Given the description of an element on the screen output the (x, y) to click on. 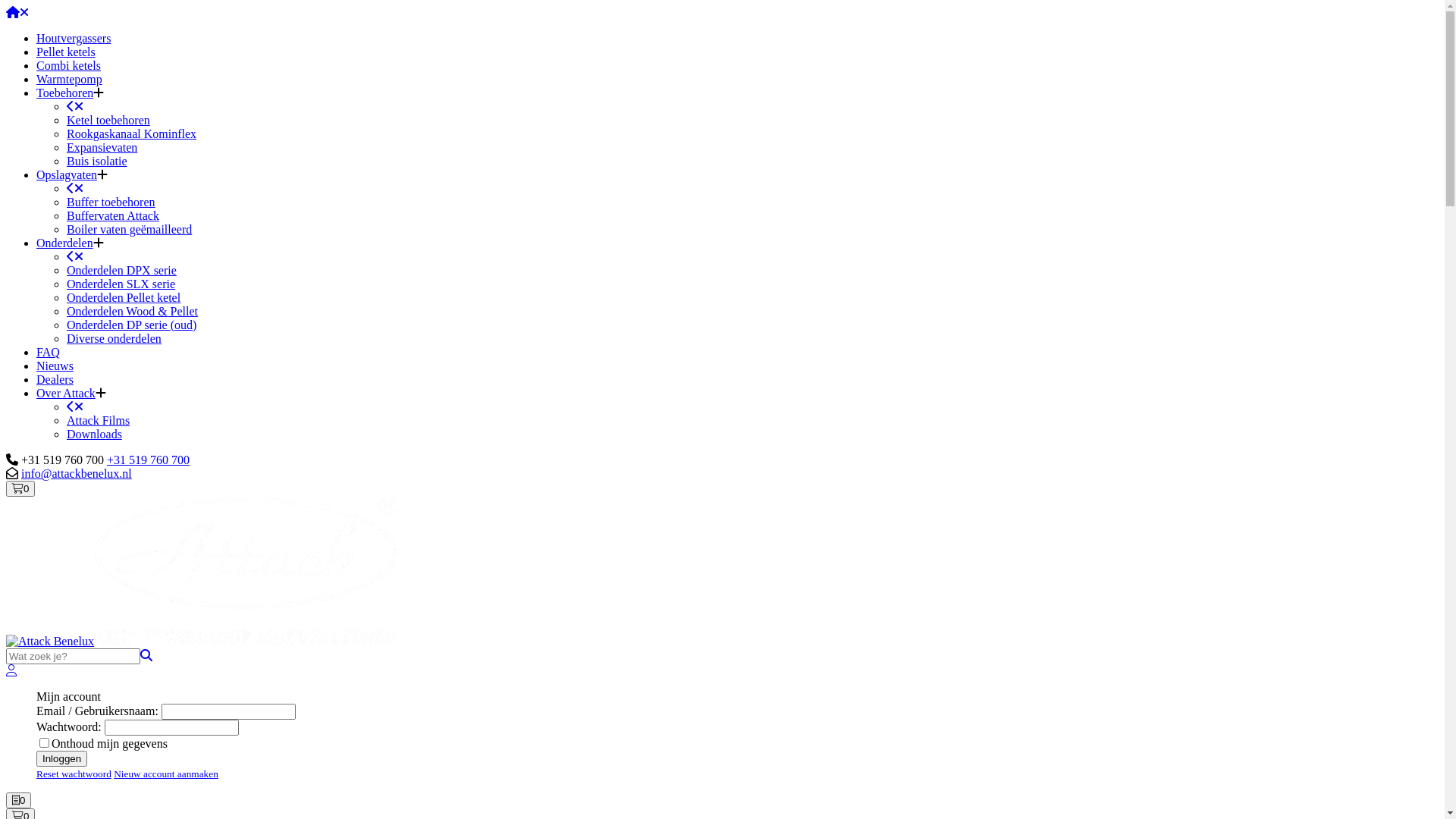
FAQ Element type: text (47, 351)
Winkelwagen Element type: hover (17, 488)
Diverse onderdelen Element type: text (113, 338)
Rookgaskanaal Kominflex Element type: text (131, 133)
Warmtepomp Element type: text (69, 78)
Houtvergassers Element type: text (73, 37)
Attack Films Element type: text (97, 420)
Attack Benelux Element type: hover (201, 640)
Offerte
0 Element type: text (18, 800)
Attack Benelux Element type: hover (245, 570)
Sluiten Element type: hover (78, 188)
Sluiten Element type: hover (70, 106)
Buffervaten Attack Element type: text (112, 215)
Sluiten Element type: hover (70, 406)
Inloggen Element type: text (61, 758)
Winkelwagen
0 Element type: text (20, 488)
Sluiten Element type: hover (70, 256)
Account Element type: hover (11, 670)
Ketel toebehoren Element type: text (108, 119)
Onderdelen DP serie (oud) Element type: text (131, 324)
Combi ketels Element type: text (68, 65)
+31 519 760 700 Element type: text (147, 459)
Wat zoek je? Element type: hover (146, 655)
Nieuw account aanmaken Element type: text (165, 773)
Onderdelen DPX serie Element type: text (121, 269)
Sluiten Element type: hover (78, 256)
Sluiten Element type: hover (23, 12)
info@attackbenelux.nl Element type: text (76, 473)
Buffer toebehoren Element type: text (110, 201)
Dealers Element type: text (54, 379)
Attack Benelux Element type: hover (50, 641)
Pellet ketels Element type: text (65, 51)
Home Element type: hover (12, 12)
Sluiten Element type: hover (78, 106)
Offerte Element type: hover (15, 800)
Buis isolatie Element type: text (96, 160)
Opslagvaten Element type: text (66, 174)
Sluiten Element type: hover (78, 406)
Toebehoren Element type: text (64, 92)
Sluiten Element type: hover (70, 188)
Onderdelen SLX serie Element type: text (120, 283)
Onderdelen Element type: text (64, 242)
Nieuws Element type: text (54, 365)
Onderdelen Wood & Pellet Element type: text (131, 310)
Reset wachtwoord Element type: text (73, 773)
Over Attack Element type: text (65, 392)
Onderdelen Pellet ketel Element type: text (123, 297)
Expansievaten Element type: text (101, 147)
Downloads Element type: text (94, 433)
